Given the description of an element on the screen output the (x, y) to click on. 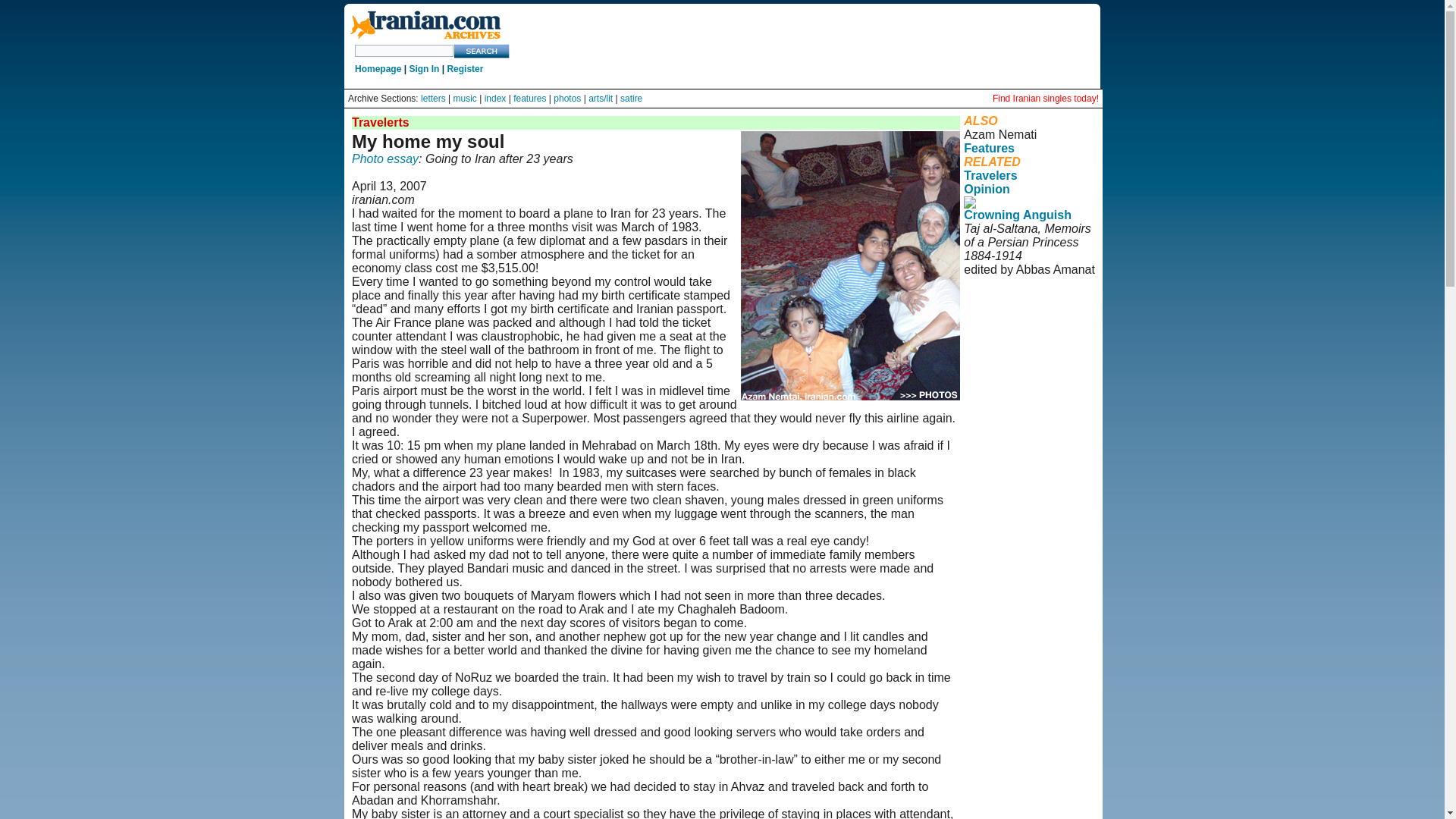
Features (988, 147)
Rights and Permissions (1021, 330)
Search this Site (481, 51)
satire (631, 98)
features (529, 98)
Home (424, 40)
User Agreement and Privacy Policy (1026, 310)
Find Iranian singles today! (1045, 98)
index (495, 98)
Opinion (986, 188)
